Given the description of an element on the screen output the (x, y) to click on. 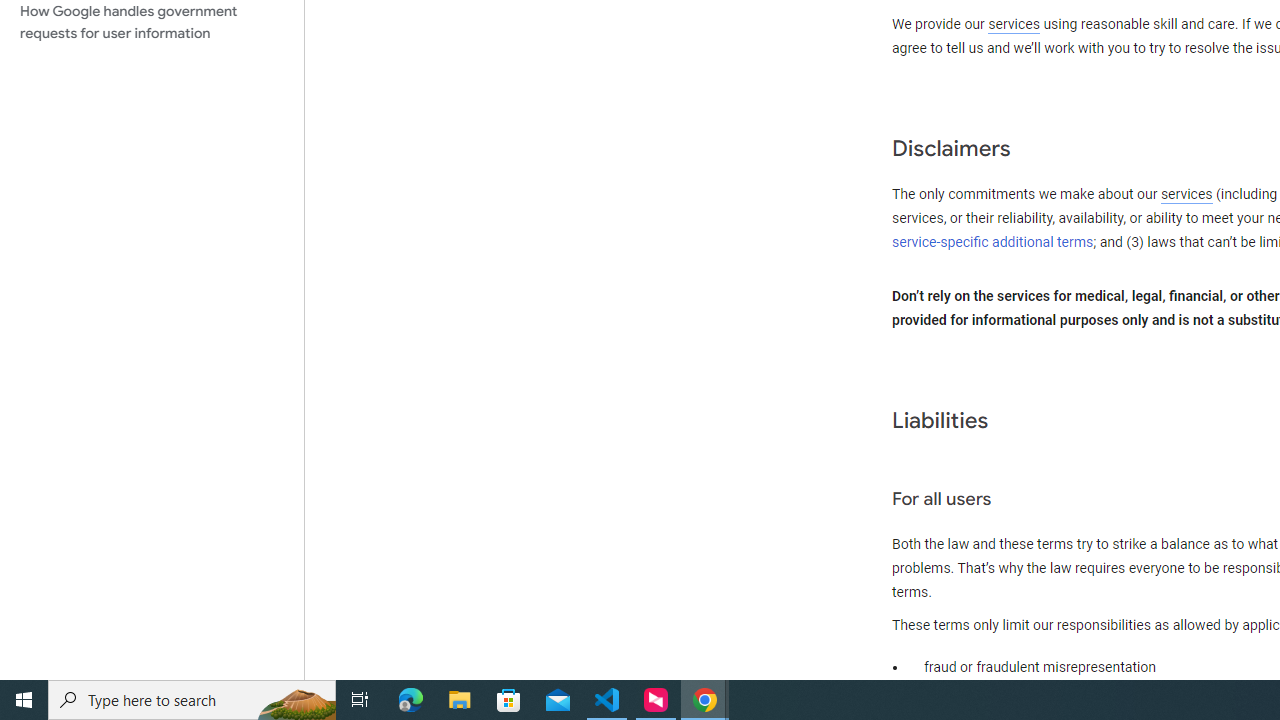
service-specific additional terms (993, 242)
